Given the description of an element on the screen output the (x, y) to click on. 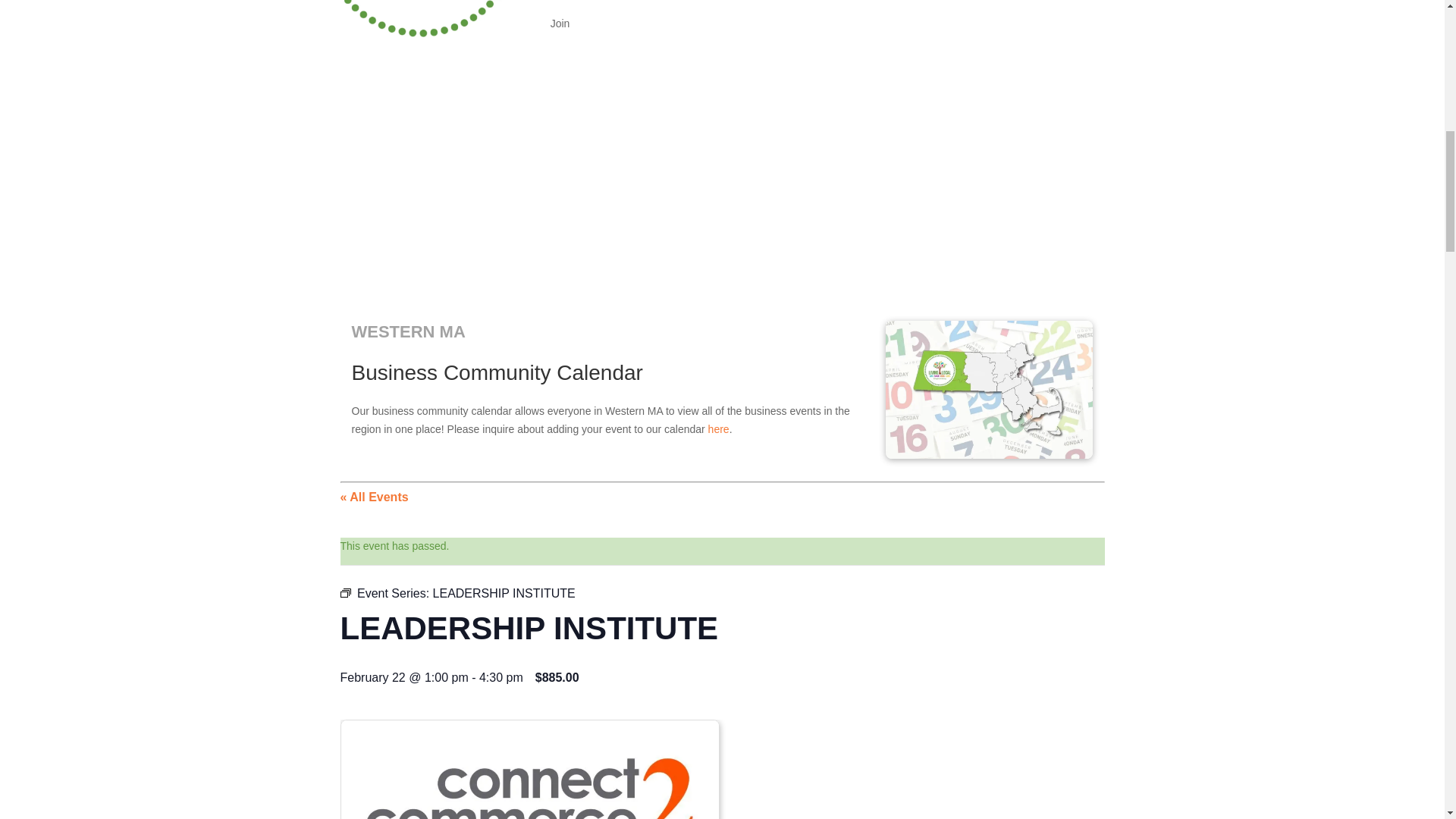
here (718, 428)
Event Series (344, 592)
LEADERSHIP INSTITUTE (503, 593)
